Given the description of an element on the screen output the (x, y) to click on. 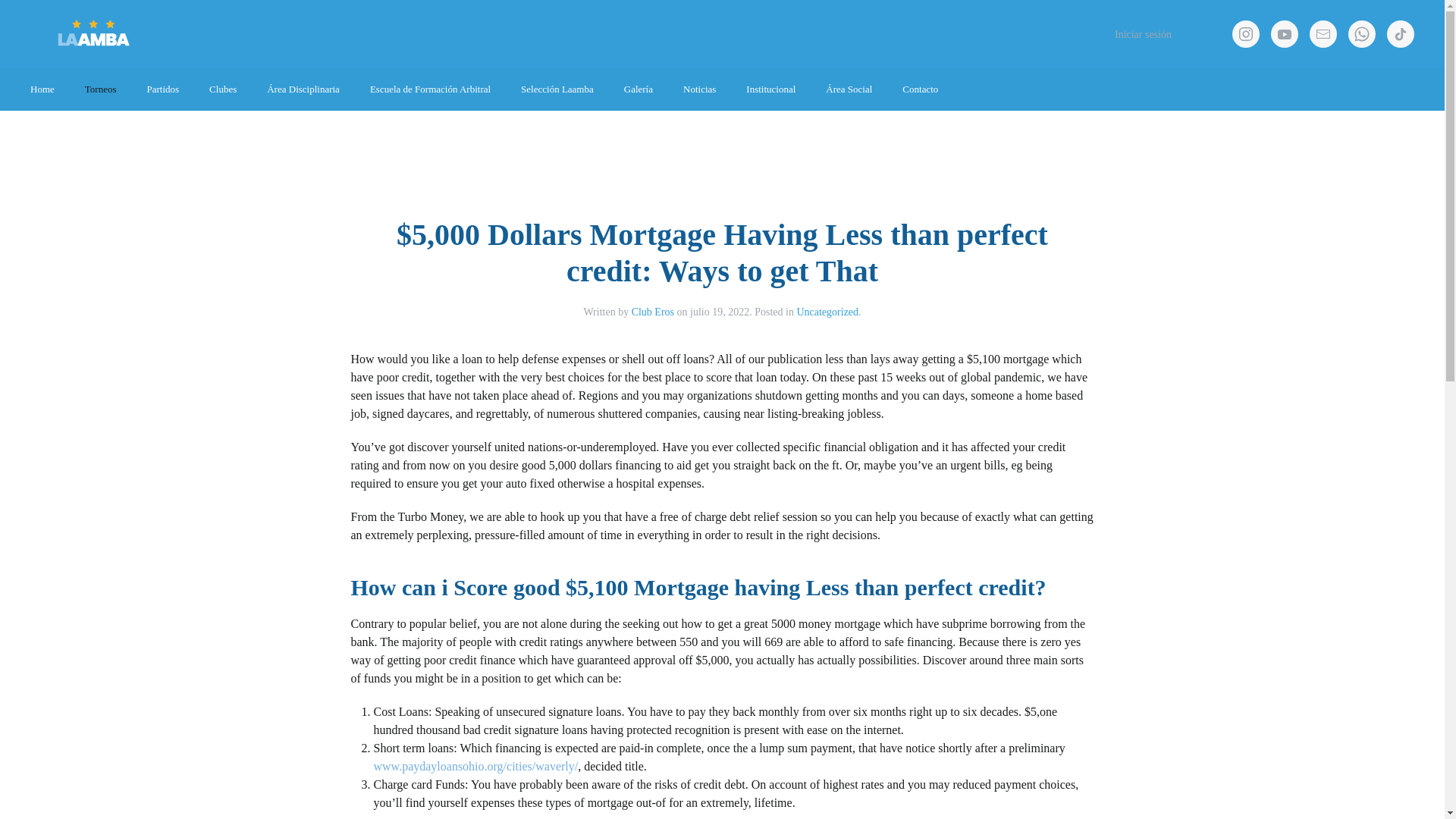
Torneos (100, 89)
Home (41, 89)
